Given the description of an element on the screen output the (x, y) to click on. 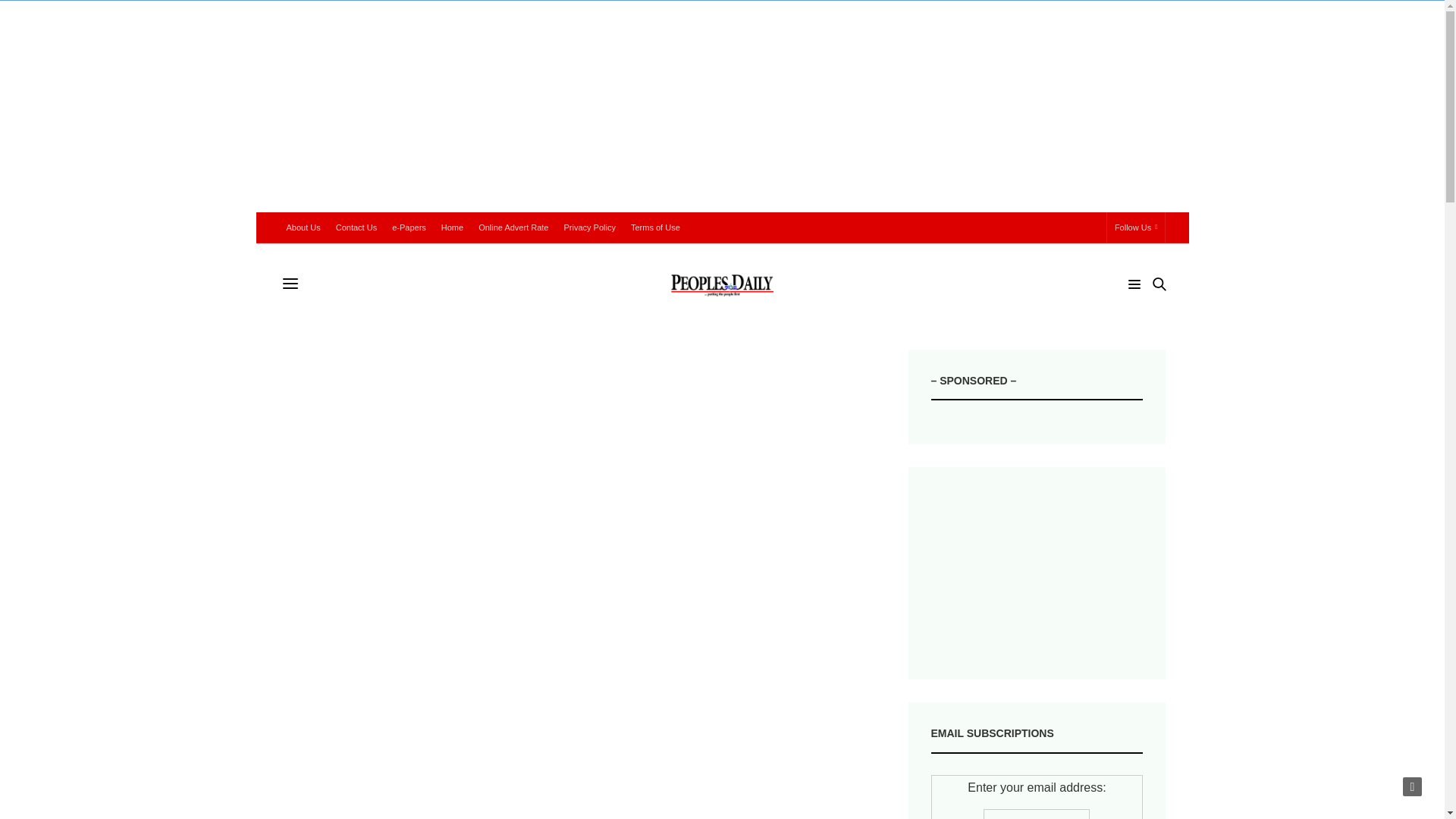
Terms of Use (655, 227)
Privacy Policy (589, 227)
Follow Us (1136, 227)
Search (1137, 312)
e-Papers (408, 227)
Online Advert Rate (513, 227)
About Us (304, 227)
Contact Us (356, 227)
Home (451, 227)
